Given the description of an element on the screen output the (x, y) to click on. 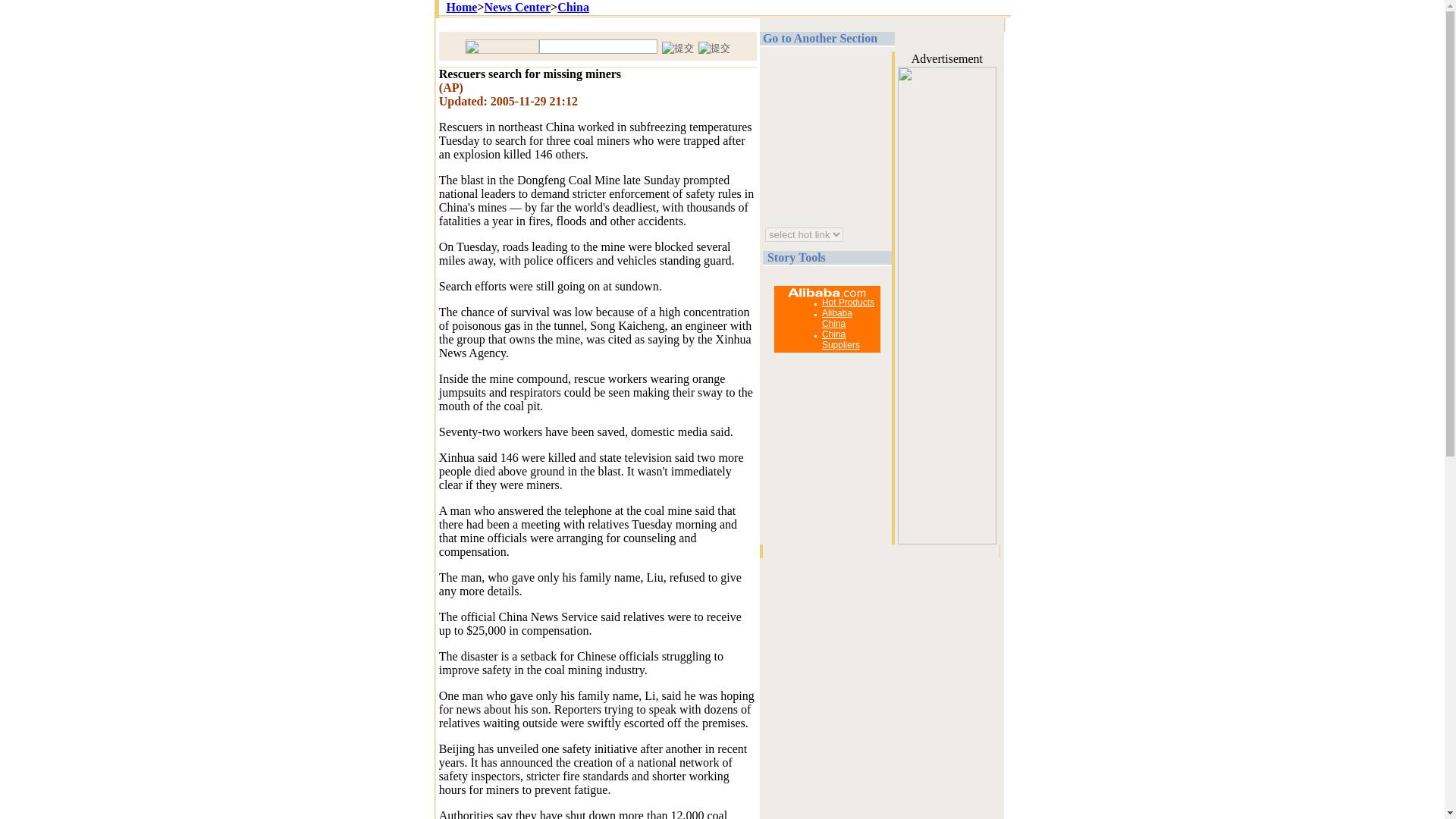
China Suppliers (841, 339)
Hot Products (848, 302)
Hot Products (848, 302)
News Center (516, 6)
Home (461, 6)
China (573, 6)
China Suppliers (841, 339)
Alibaba China (836, 318)
Alibaba China (836, 318)
